Given the description of an element on the screen output the (x, y) to click on. 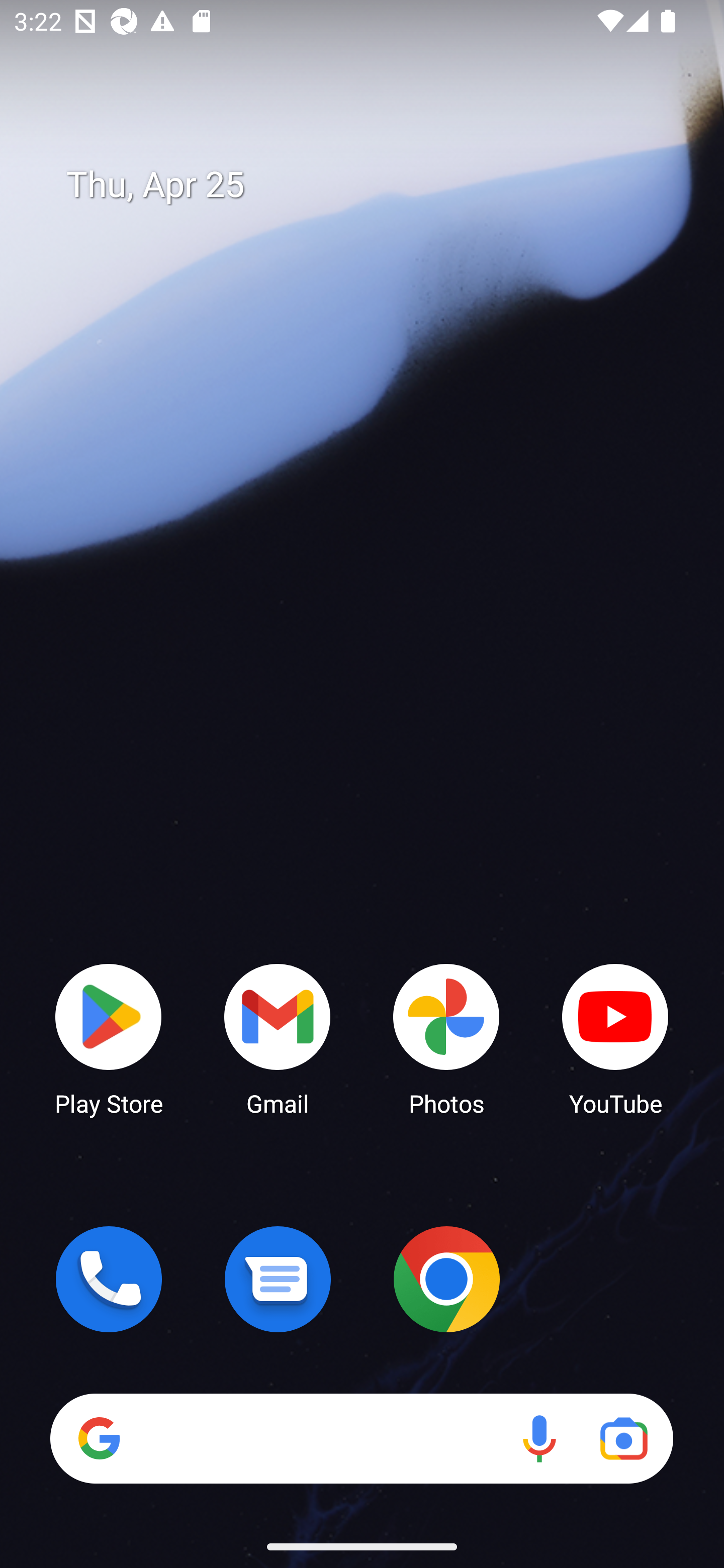
Thu, Apr 25 (375, 184)
Play Store (108, 1038)
Gmail (277, 1038)
Photos (445, 1038)
YouTube (615, 1038)
Phone (108, 1279)
Messages (277, 1279)
Chrome (446, 1279)
Search Voice search Google Lens (361, 1438)
Voice search (539, 1438)
Google Lens (623, 1438)
